Given the description of an element on the screen output the (x, y) to click on. 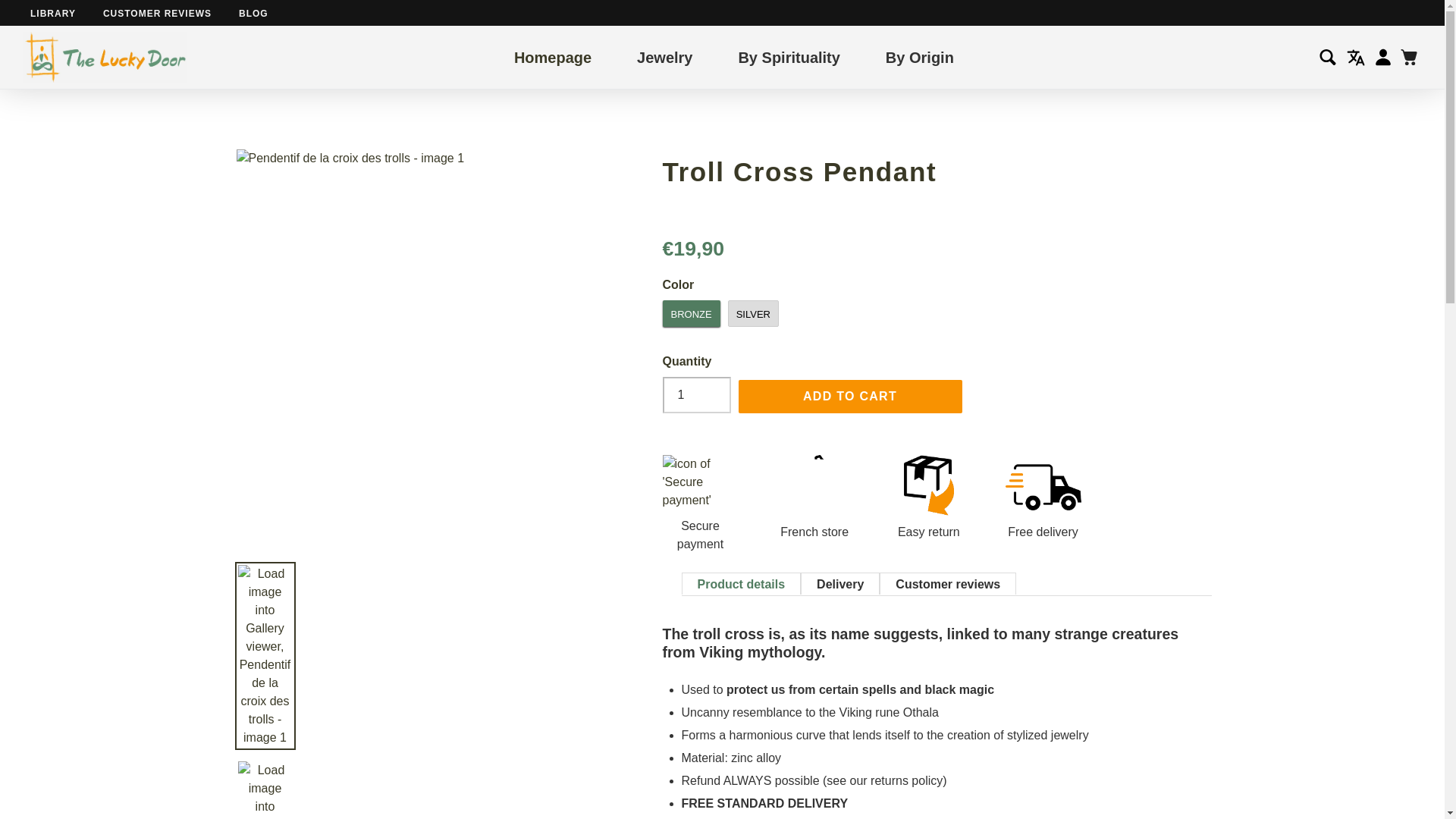
Homepage (552, 56)
LIBRARY (52, 13)
By Spirituality (788, 56)
CUSTOMER REVIEWS (157, 13)
1 (696, 394)
BLOG (252, 13)
By Origin (918, 56)
Jewelry (664, 56)
Homepage (552, 56)
